Given the description of an element on the screen output the (x, y) to click on. 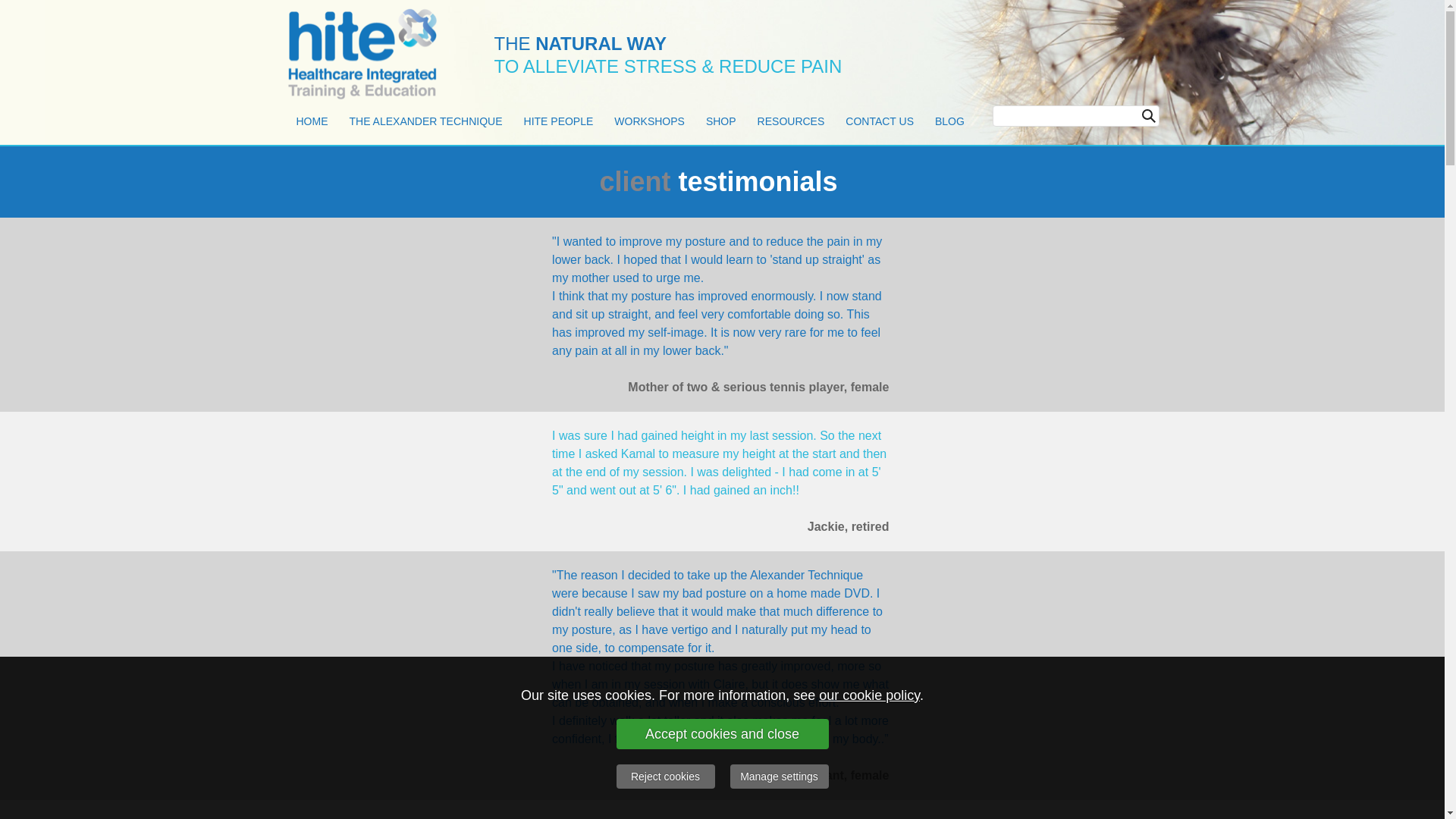
HOME (311, 121)
HITE PEOPLE (558, 121)
RESOURCES (790, 121)
Manage settings (778, 776)
BLOG (949, 121)
THE ALEXANDER TECHNIQUE (424, 121)
our cookie policy (869, 694)
WORKSHOPS (649, 121)
CONTACT US (879, 121)
SHOP (720, 121)
